Given the description of an element on the screen output the (x, y) to click on. 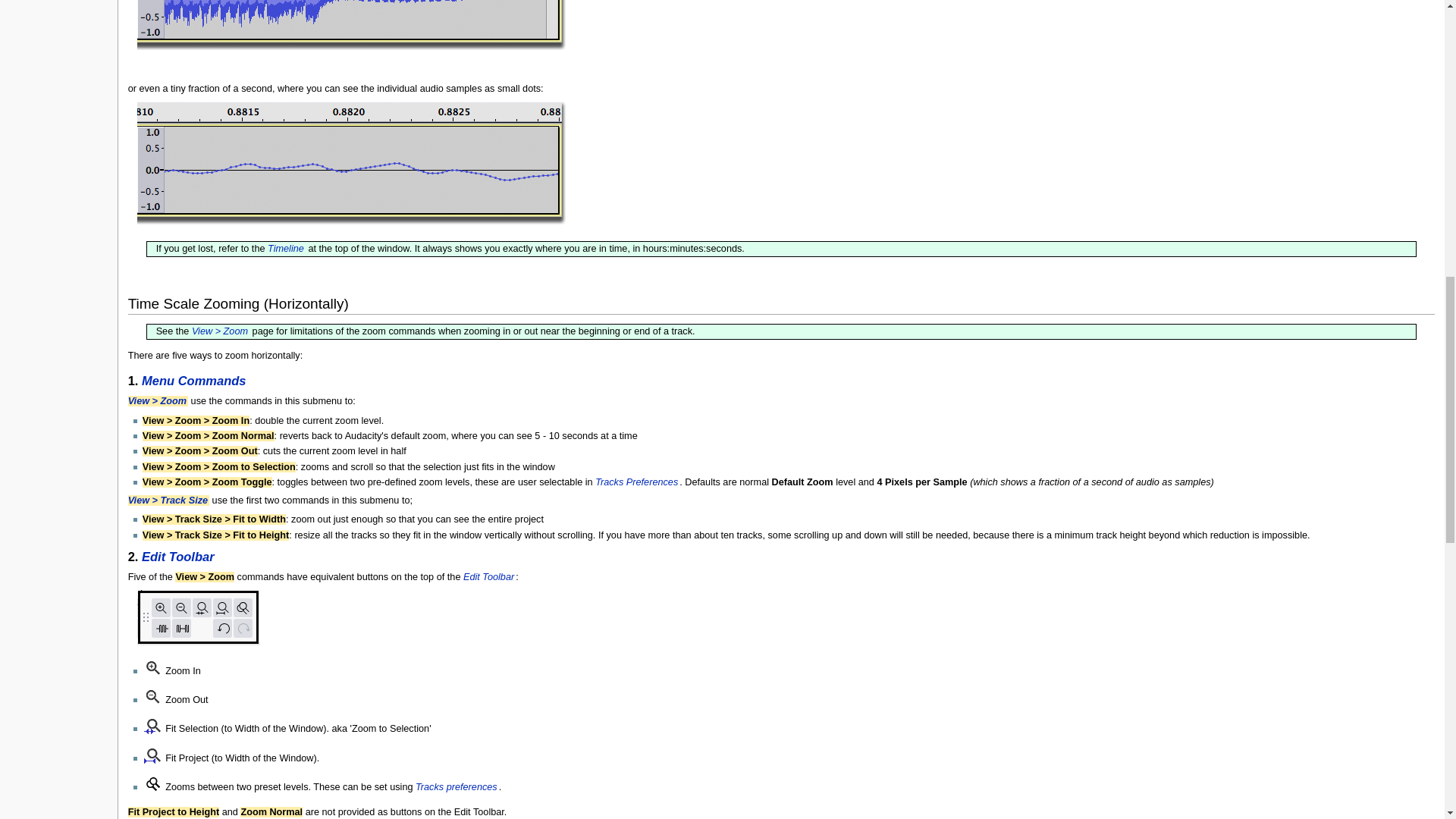
View Menu: Zoom (157, 400)
Menu Commands (194, 380)
Tracks Preferences (637, 481)
Edit Toolbar (489, 576)
Edit Toolbar (178, 556)
Edit toolbar (198, 620)
View Menu: Zoom (220, 330)
Timeline (286, 248)
A fraction of a second, zoomed all the way in (351, 165)
Tracks preferences (456, 787)
